Given the description of an element on the screen output the (x, y) to click on. 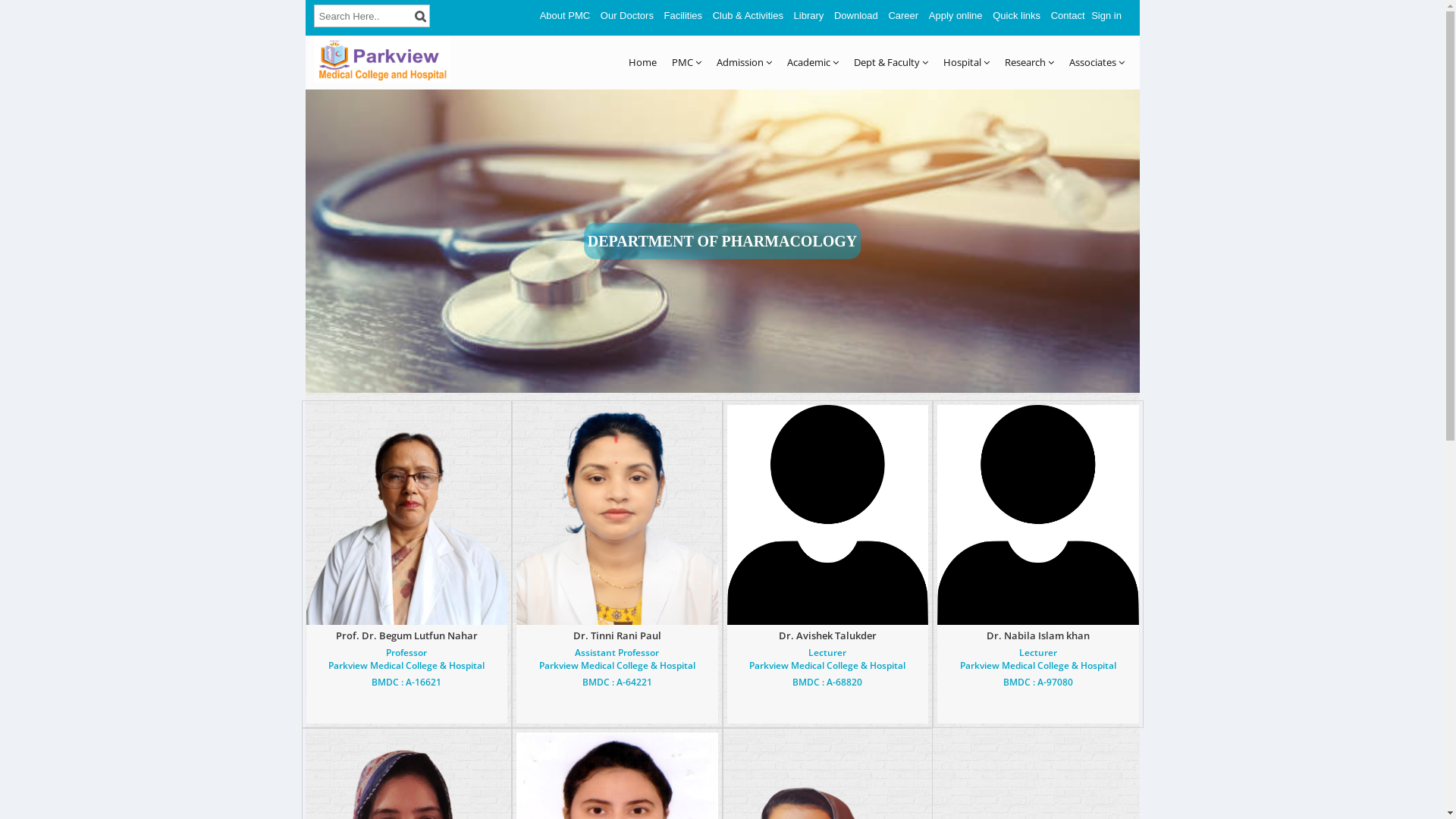
Home Element type: text (641, 62)
Sign in Element type: text (1106, 15)
Career Element type: text (903, 15)
About PMC Element type: text (564, 15)
Academic Element type: text (812, 62)
Download Element type: text (856, 15)
Library Element type: text (808, 15)
Club & Activities Element type: text (747, 15)
Dept & Faculty Element type: text (890, 62)
Associates Element type: text (1096, 62)
Quick links Element type: text (1016, 15)
Our Doctors Element type: text (626, 15)
Hospital Element type: text (966, 62)
PMC Element type: text (686, 62)
Facilities Element type: text (683, 15)
Research Element type: text (1028, 62)
Contact Element type: text (1068, 15)
Admission Element type: text (743, 62)
Apply online Element type: text (955, 15)
